Given the description of an element on the screen output the (x, y) to click on. 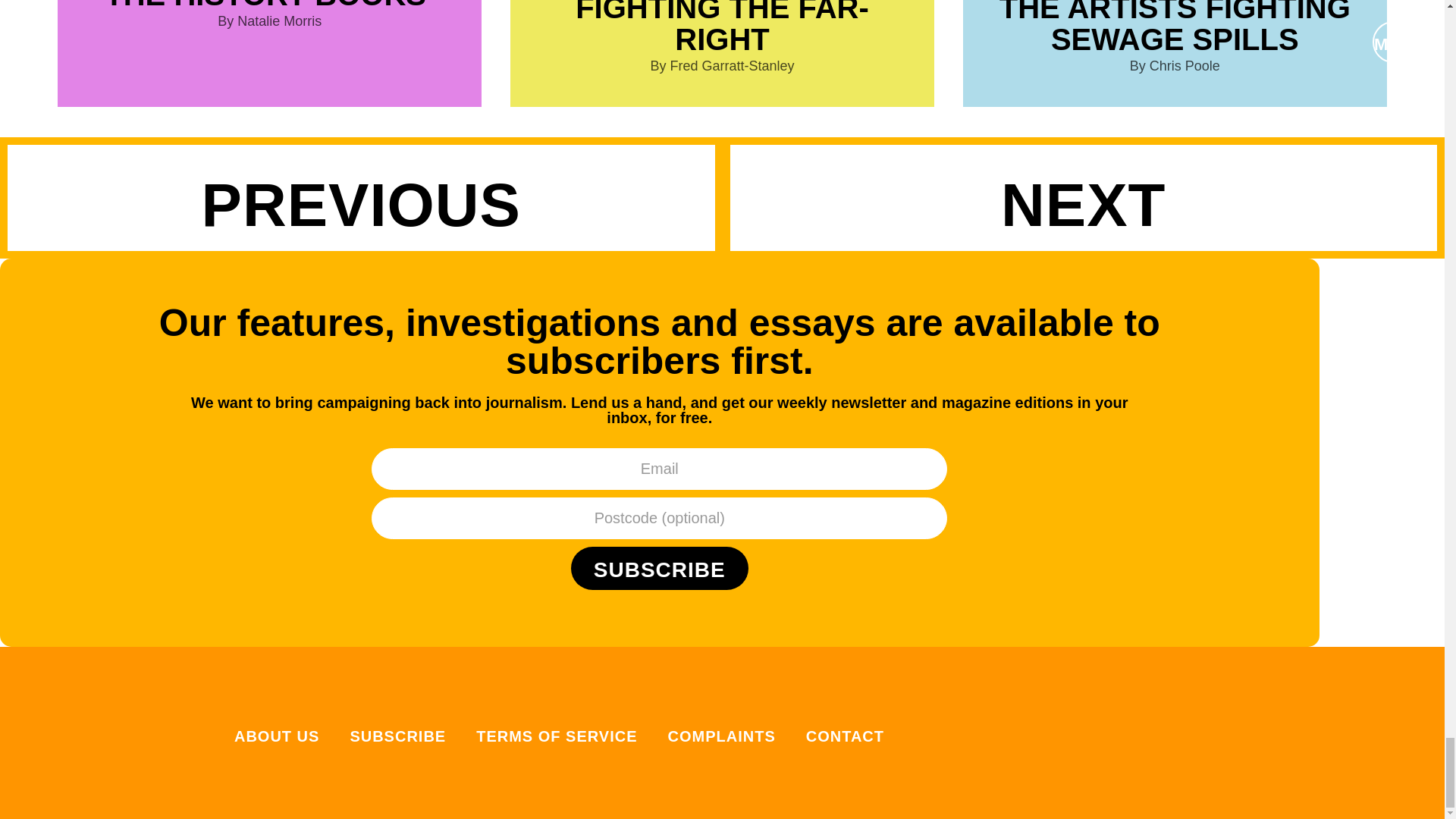
Subscribe (659, 568)
